Given the description of an element on the screen output the (x, y) to click on. 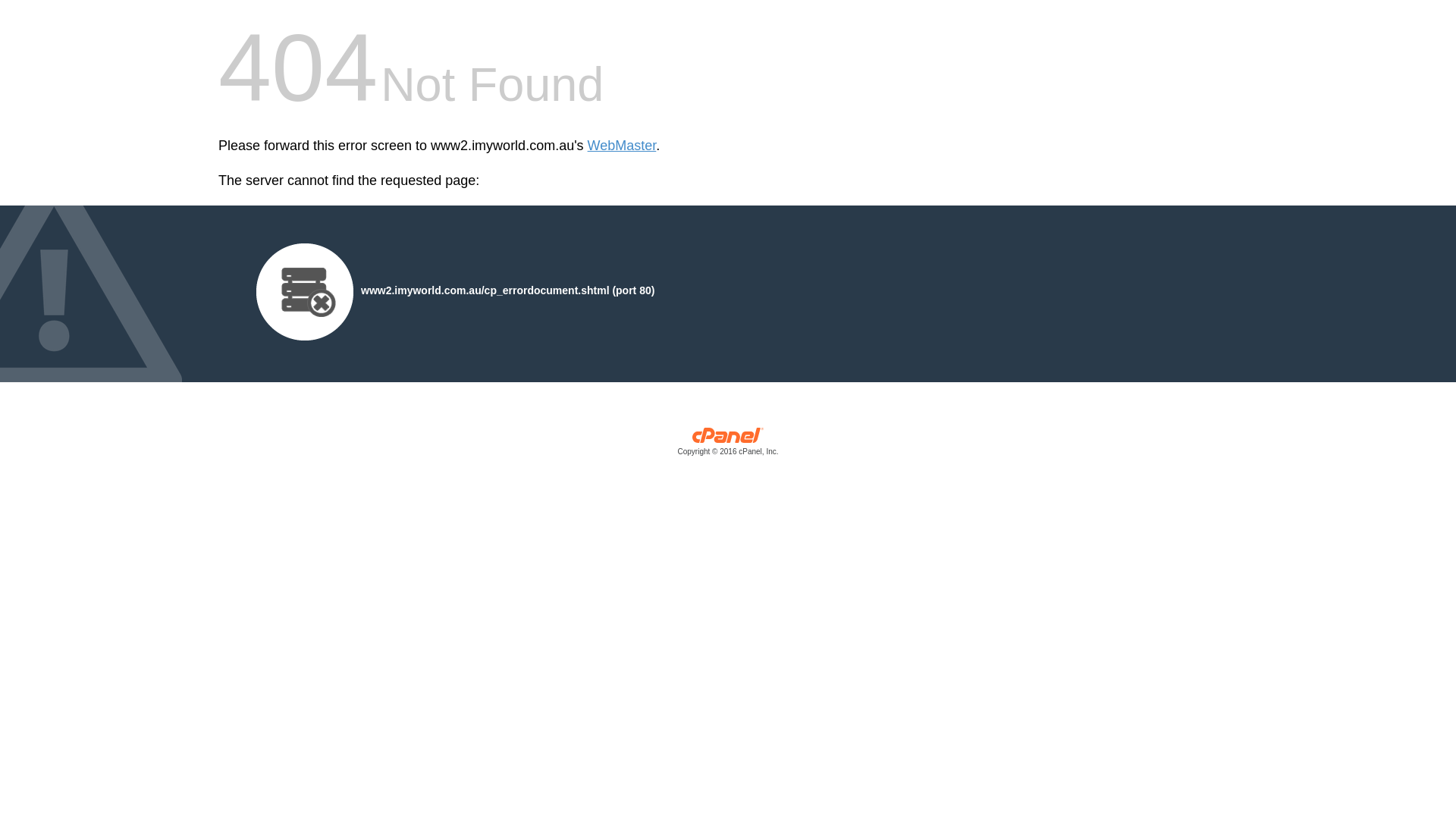
WebMaster Element type: text (621, 145)
